Given the description of an element on the screen output the (x, y) to click on. 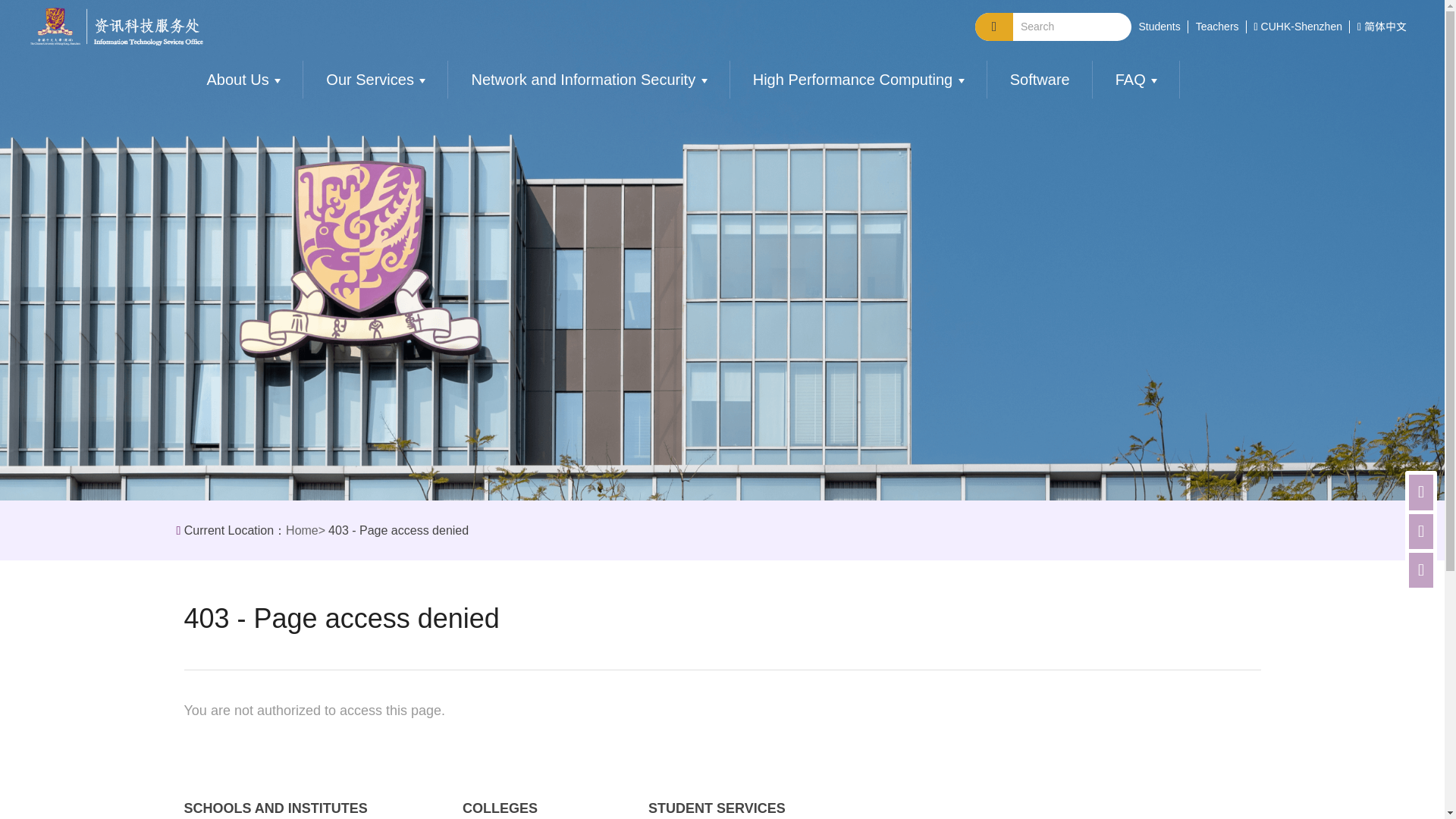
Our Services (369, 79)
Teachers (1217, 25)
Students (1159, 25)
Network and Information Security (582, 79)
CUHK-Shenzhen (1301, 25)
CUHK-Shenzhen (1301, 25)
About Us (239, 79)
